Given the description of an element on the screen output the (x, y) to click on. 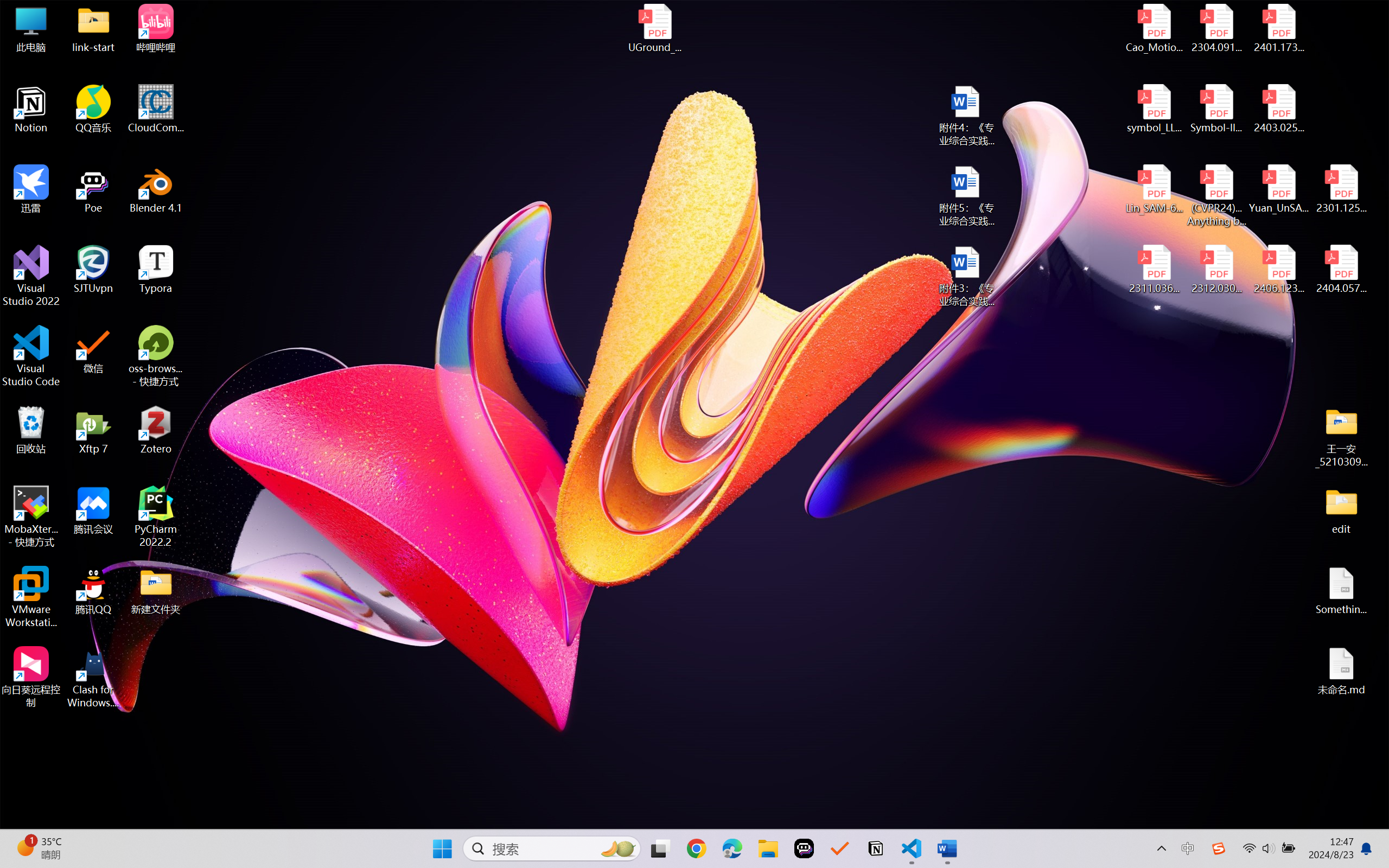
Blender 4.1 (156, 189)
(CVPR24)Matching Anything by Segmenting Anything.pdf (1216, 195)
PyCharm 2022.2 (156, 516)
Visual Studio 2022 (31, 276)
2406.12373v2.pdf (1278, 269)
CloudCompare (156, 109)
2304.09121v3.pdf (1216, 28)
